Given the description of an element on the screen output the (x, y) to click on. 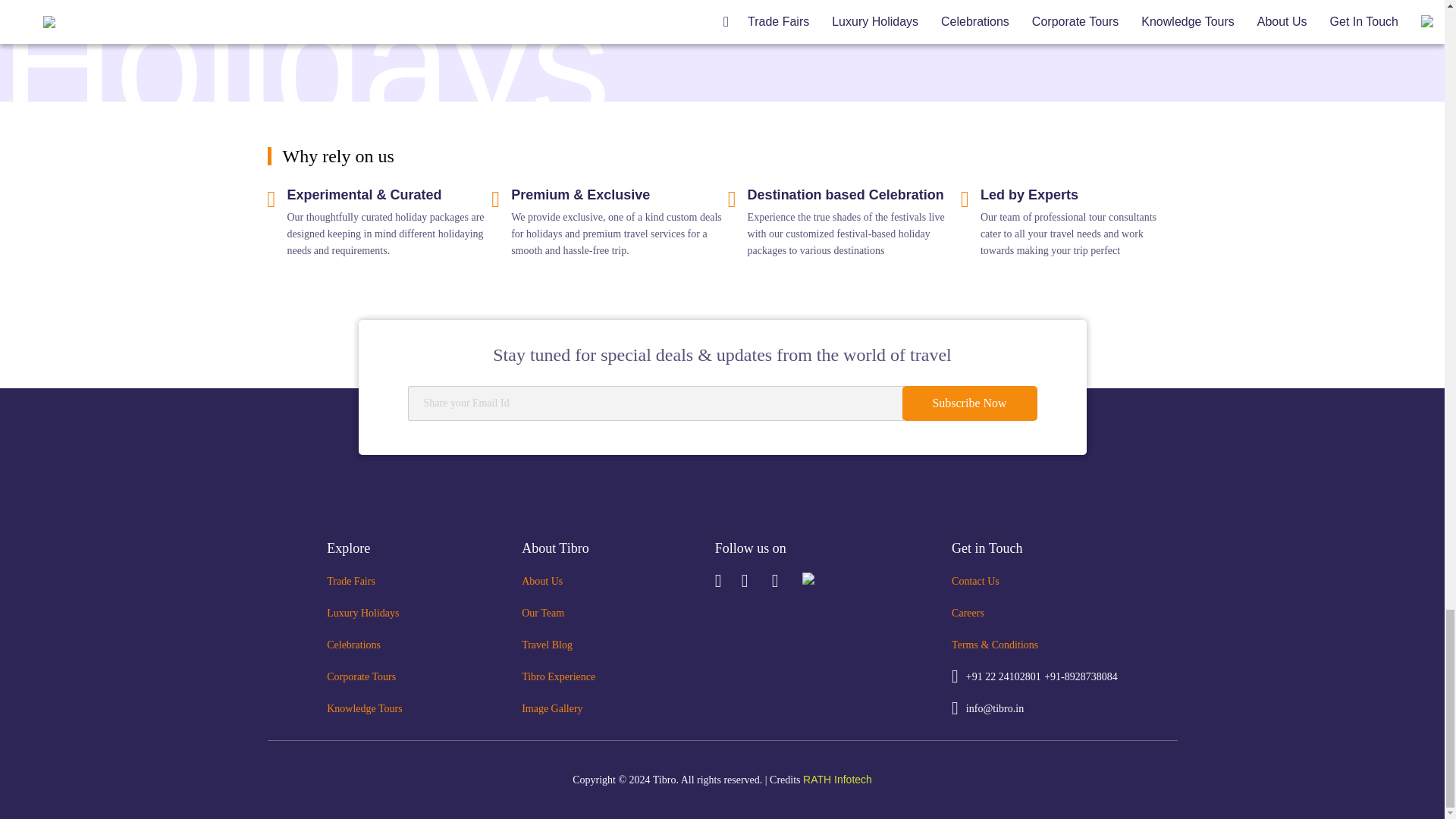
Celebrations (353, 644)
Our Team (542, 612)
Knowledge Tours (363, 708)
Luxury Holidays (362, 612)
Subscribe Now (969, 402)
Corporate Tours (361, 676)
About Us (541, 580)
Trade Fairs (350, 580)
